Given the description of an element on the screen output the (x, y) to click on. 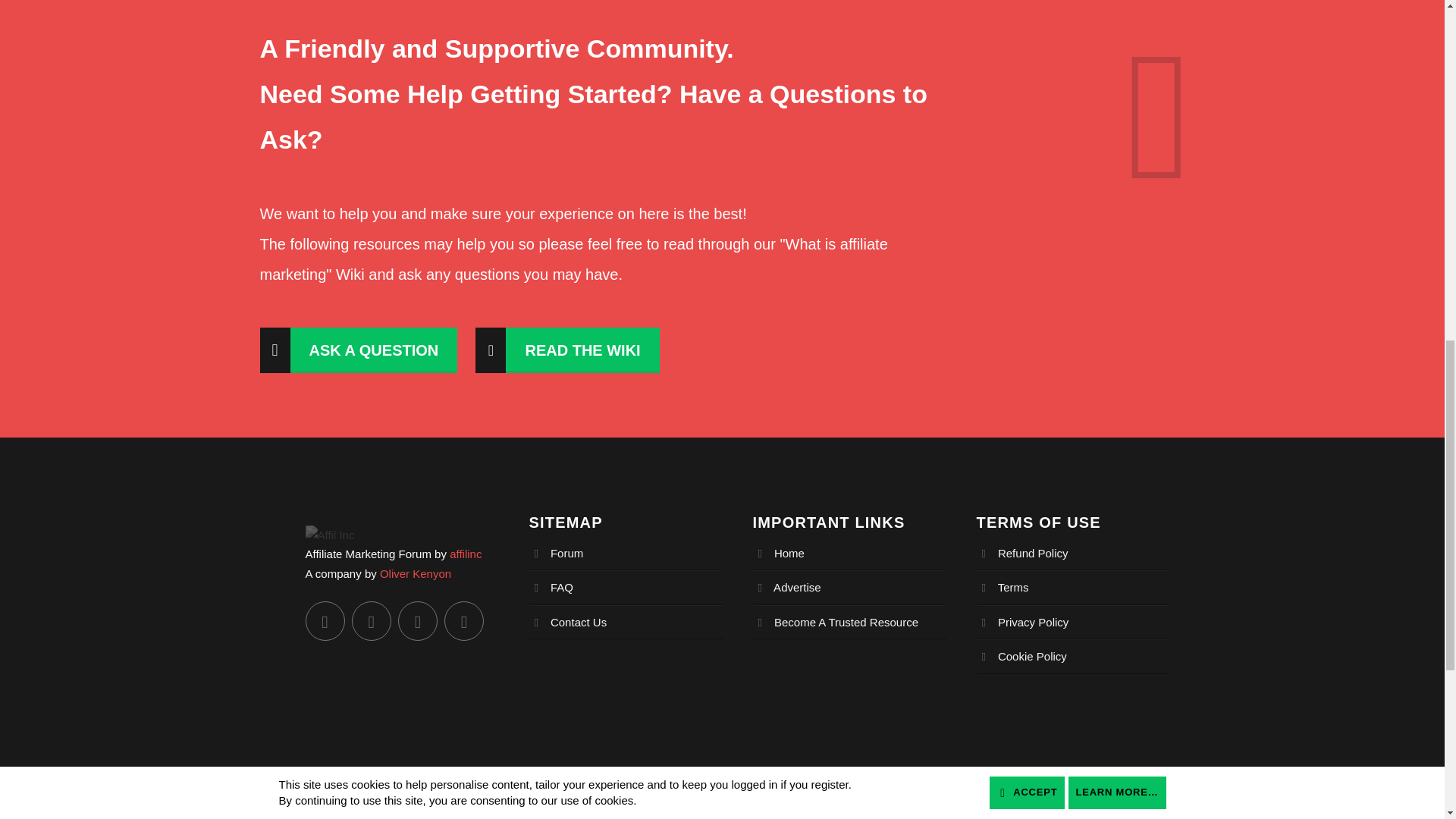
Twitter (323, 620)
Facebook (371, 620)
Google Plus (463, 620)
Youtube (417, 620)
